Given the description of an element on the screen output the (x, y) to click on. 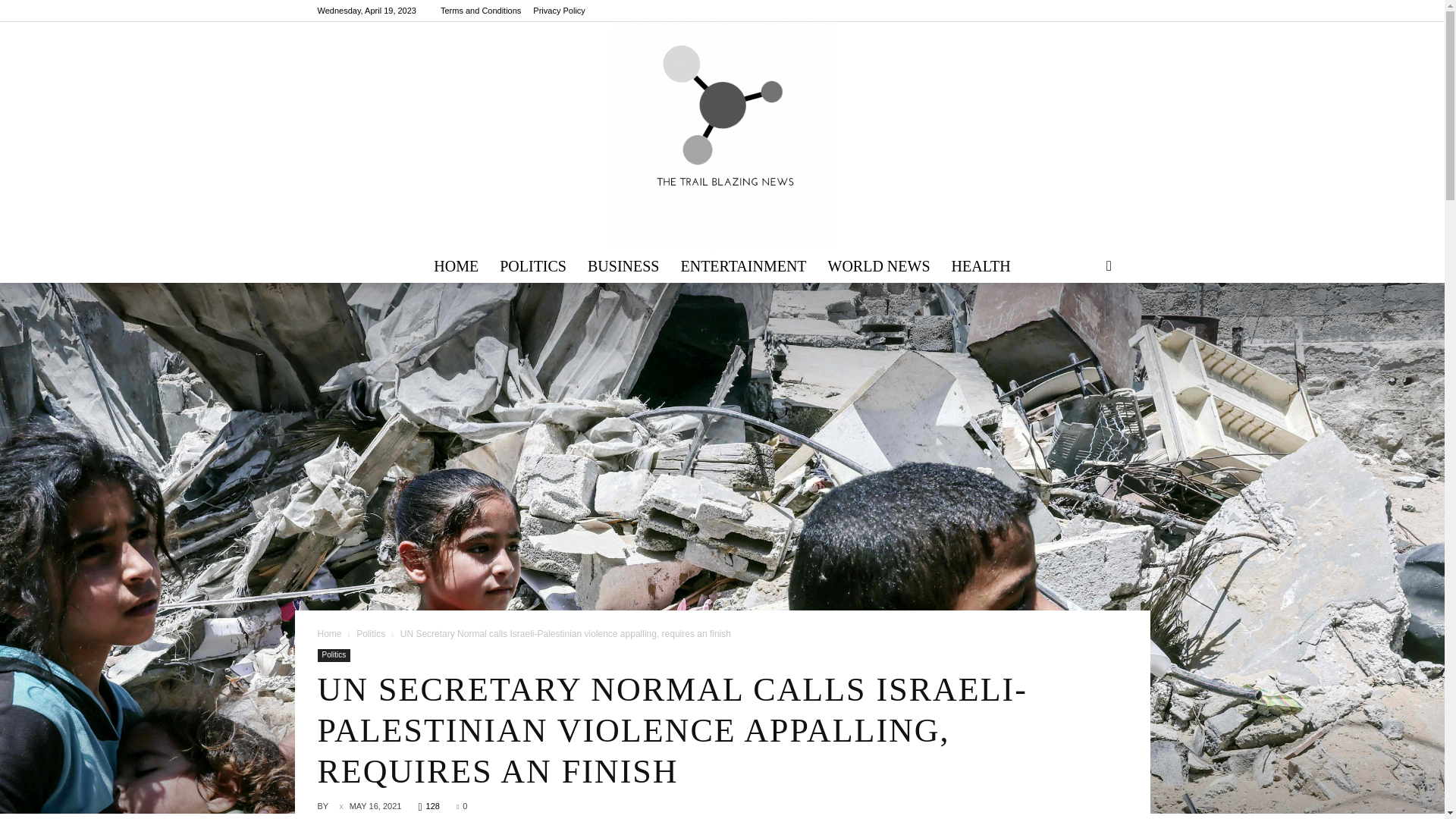
View all posts in Politics (370, 633)
WORLD NEWS (878, 265)
BUSINESS (622, 265)
HEALTH (981, 265)
POLITICS (532, 265)
Search (1085, 324)
Terms and Conditions (481, 10)
Home (328, 633)
0 (462, 805)
ENTERTAINMENT (742, 265)
